Given the description of an element on the screen output the (x, y) to click on. 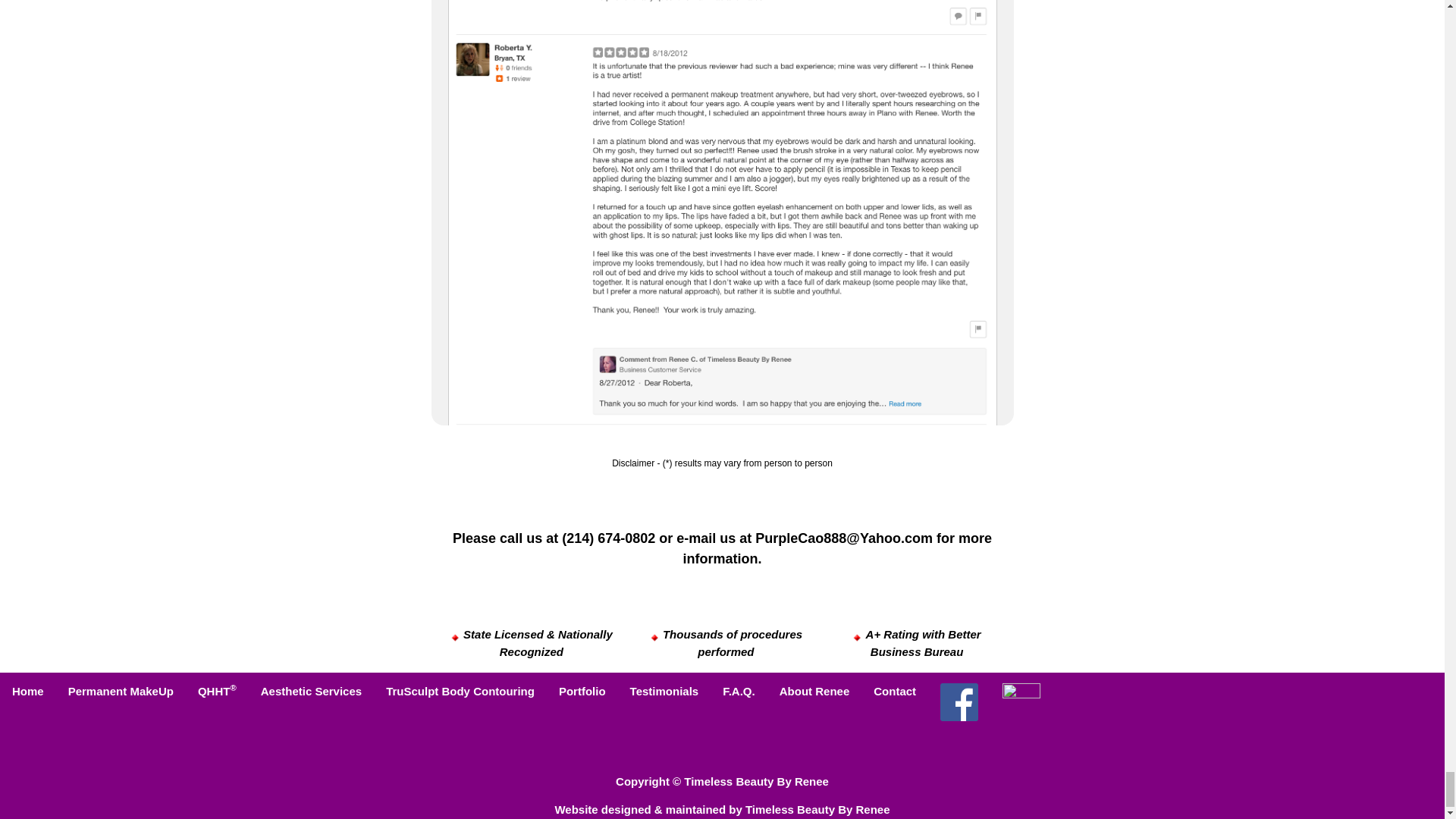
Testimonials (664, 691)
Aesthetic Services (311, 691)
About Renee (814, 691)
Portfolio (582, 691)
Home (28, 691)
F.A.Q. (738, 691)
Contact (894, 691)
TruSculpt Body Contouring (460, 691)
Permanent MakeUp (121, 691)
